Given the description of an element on the screen output the (x, y) to click on. 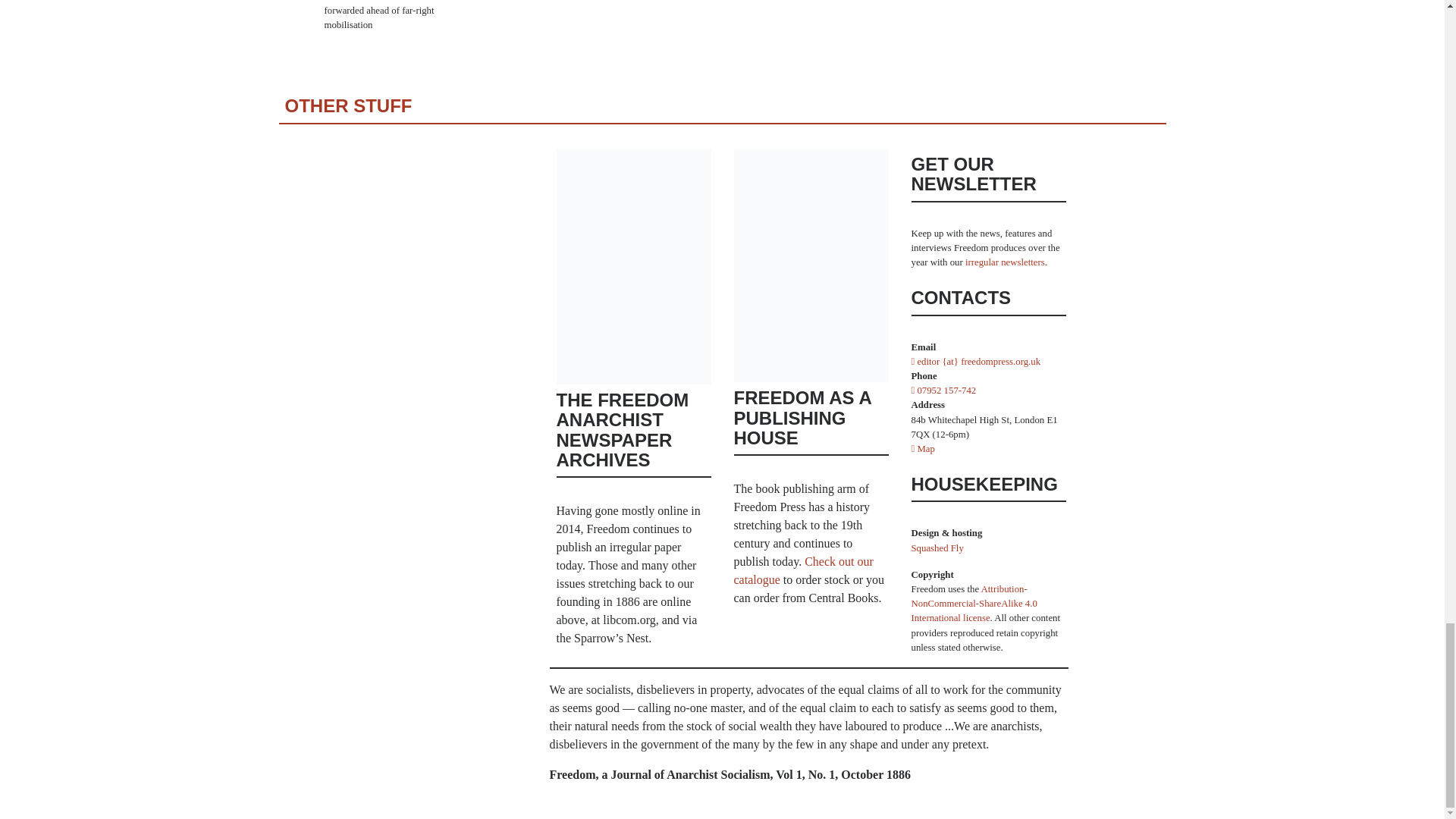
Check out our catalogue (803, 570)
